Given the description of an element on the screen output the (x, y) to click on. 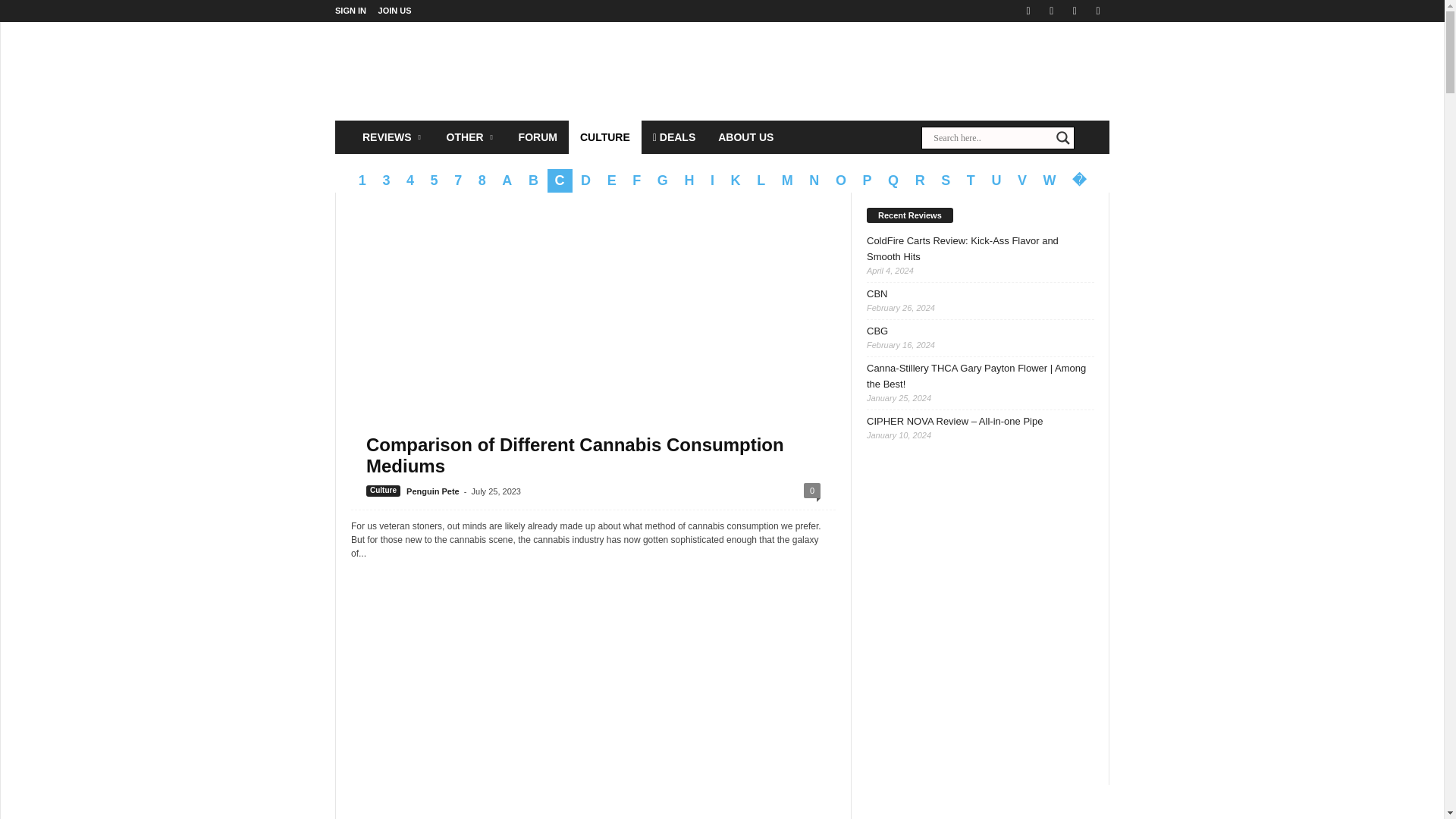
Comparison of Different Cannabis Consumption Mediums (575, 454)
